Given the description of an element on the screen output the (x, y) to click on. 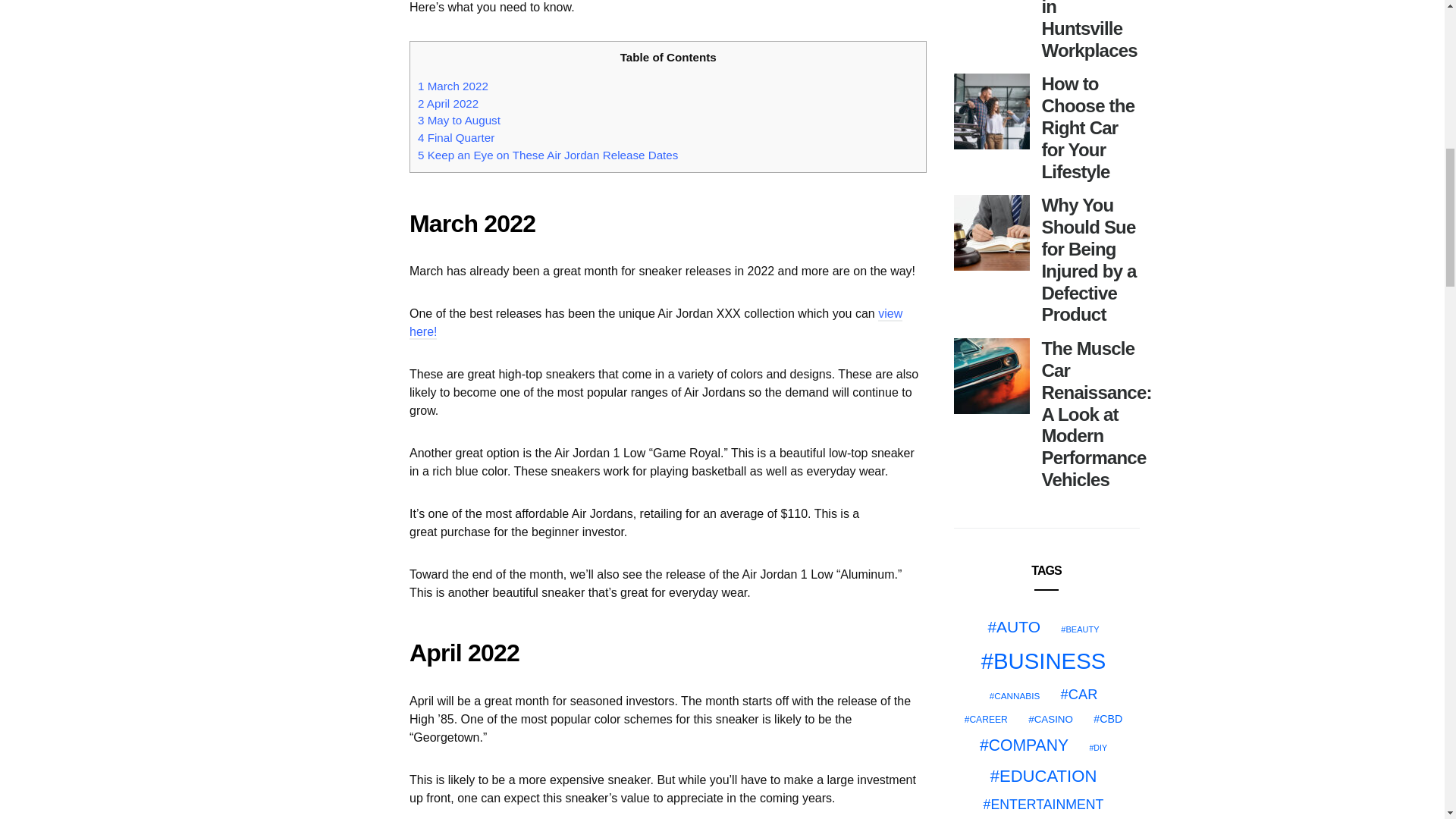
1 March 2022 (452, 85)
view here! (655, 323)
4 Final Quarter (456, 137)
5 Keep an Eye on These Air Jordan Release Dates (547, 154)
2 April 2022 (448, 103)
3 May to August (458, 119)
